Given the description of an element on the screen output the (x, y) to click on. 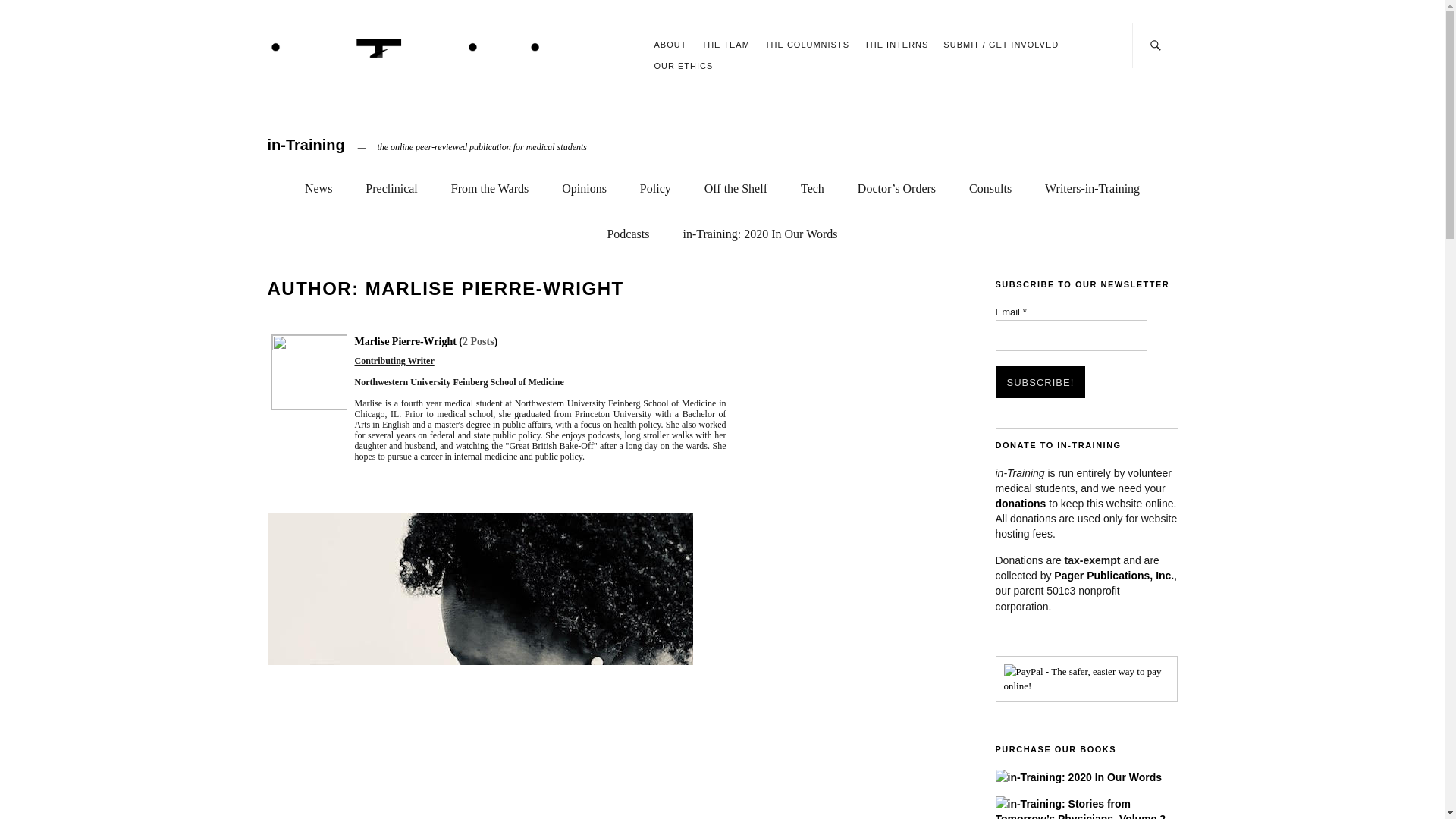
Subscribe! (1039, 382)
News (317, 185)
Podcasts (628, 230)
in-Training (304, 144)
Tech (812, 185)
OUR ETHICS (683, 65)
in-Training (304, 144)
ABOUT (669, 44)
THE COLUMNISTS (806, 44)
Subscribe! (1039, 382)
